Given the description of an element on the screen output the (x, y) to click on. 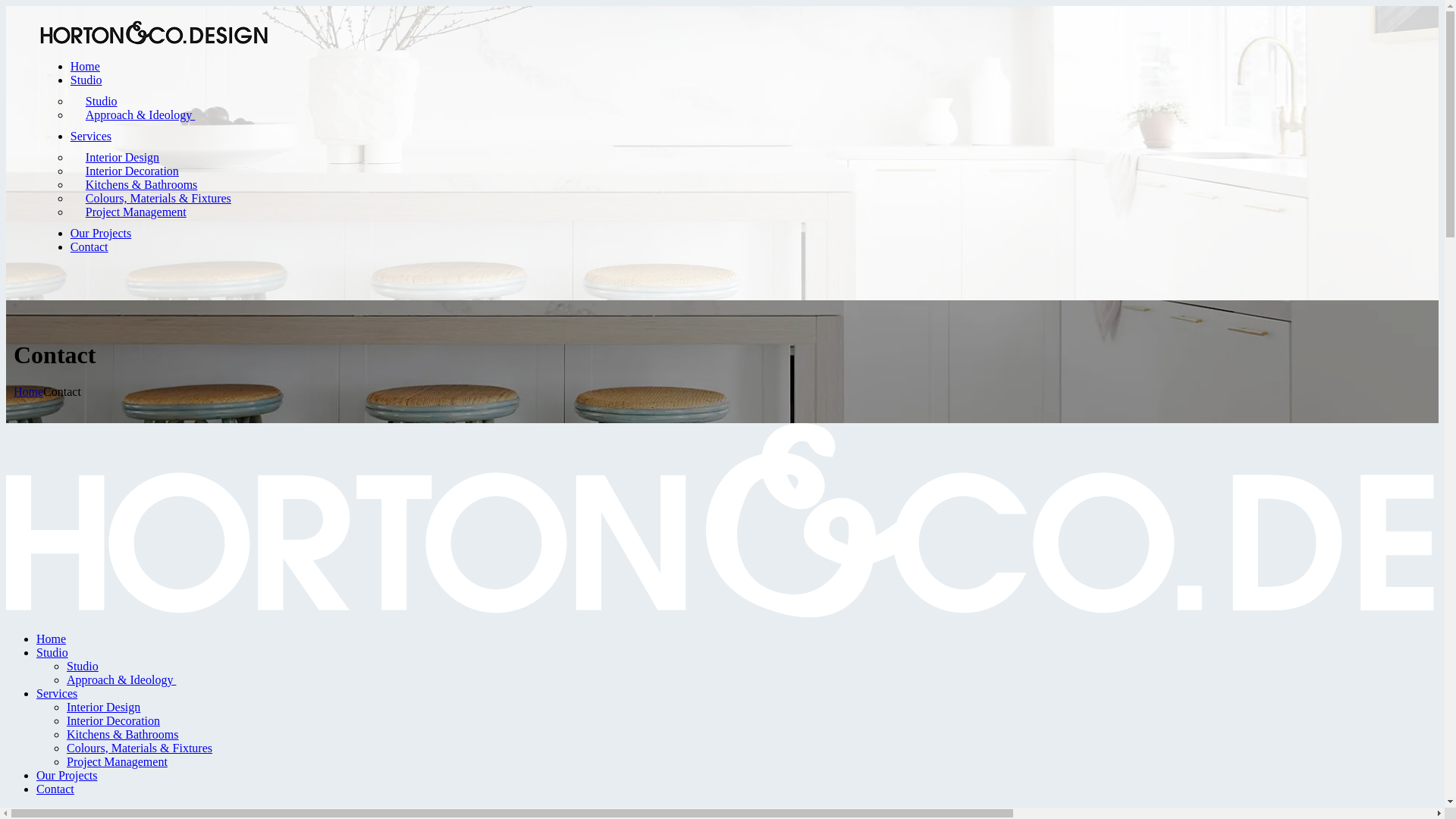
Services Element type: text (56, 693)
Kitchens & Bathrooms Element type: text (122, 734)
Interior Decoration Element type: text (113, 720)
Contact Element type: text (55, 788)
Home Element type: text (85, 65)
Interior Design Element type: text (103, 706)
Project Management Element type: text (116, 761)
Approach & Ideology  Element type: text (140, 114)
Our Projects Element type: text (66, 774)
Home Element type: text (50, 638)
Home Element type: text (28, 391)
Project Management Element type: text (135, 211)
Approach & Ideology  Element type: text (120, 679)
Studio Element type: text (86, 79)
Contact Element type: text (89, 246)
Interior Decoration Element type: text (132, 170)
Studio Element type: text (52, 652)
Interior Design Element type: text (122, 156)
Services Element type: text (90, 135)
Our Projects Element type: text (100, 232)
Studio Element type: text (101, 100)
Colours, Materials & Fixtures Element type: text (158, 197)
Kitchens & Bathrooms Element type: text (141, 184)
Studio Element type: text (82, 665)
Colours, Materials & Fixtures Element type: text (139, 747)
